Given the description of an element on the screen output the (x, y) to click on. 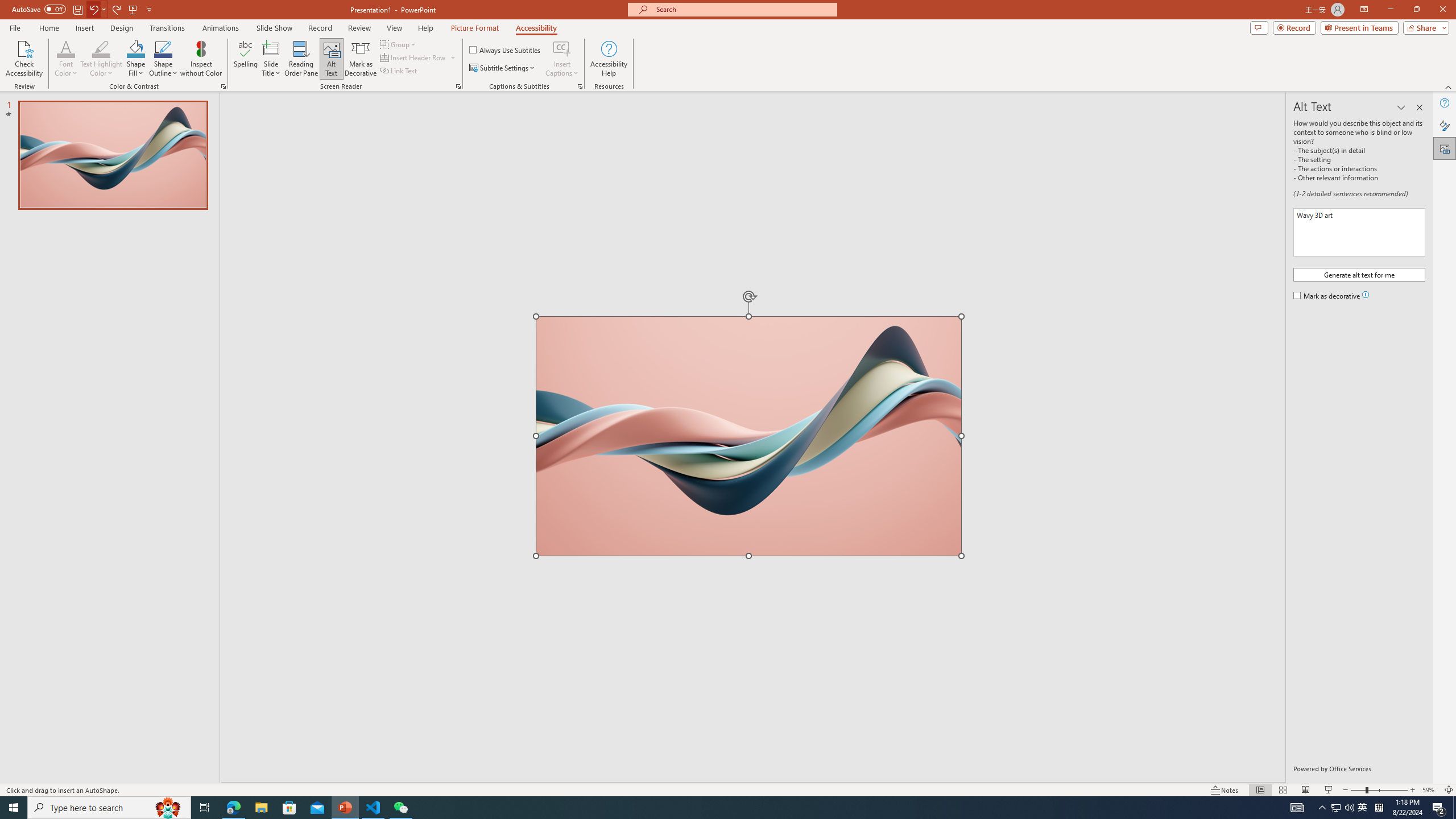
Screen Reader (458, 85)
Generate alt text for me (1358, 274)
Description (1358, 231)
